Given the description of an element on the screen output the (x, y) to click on. 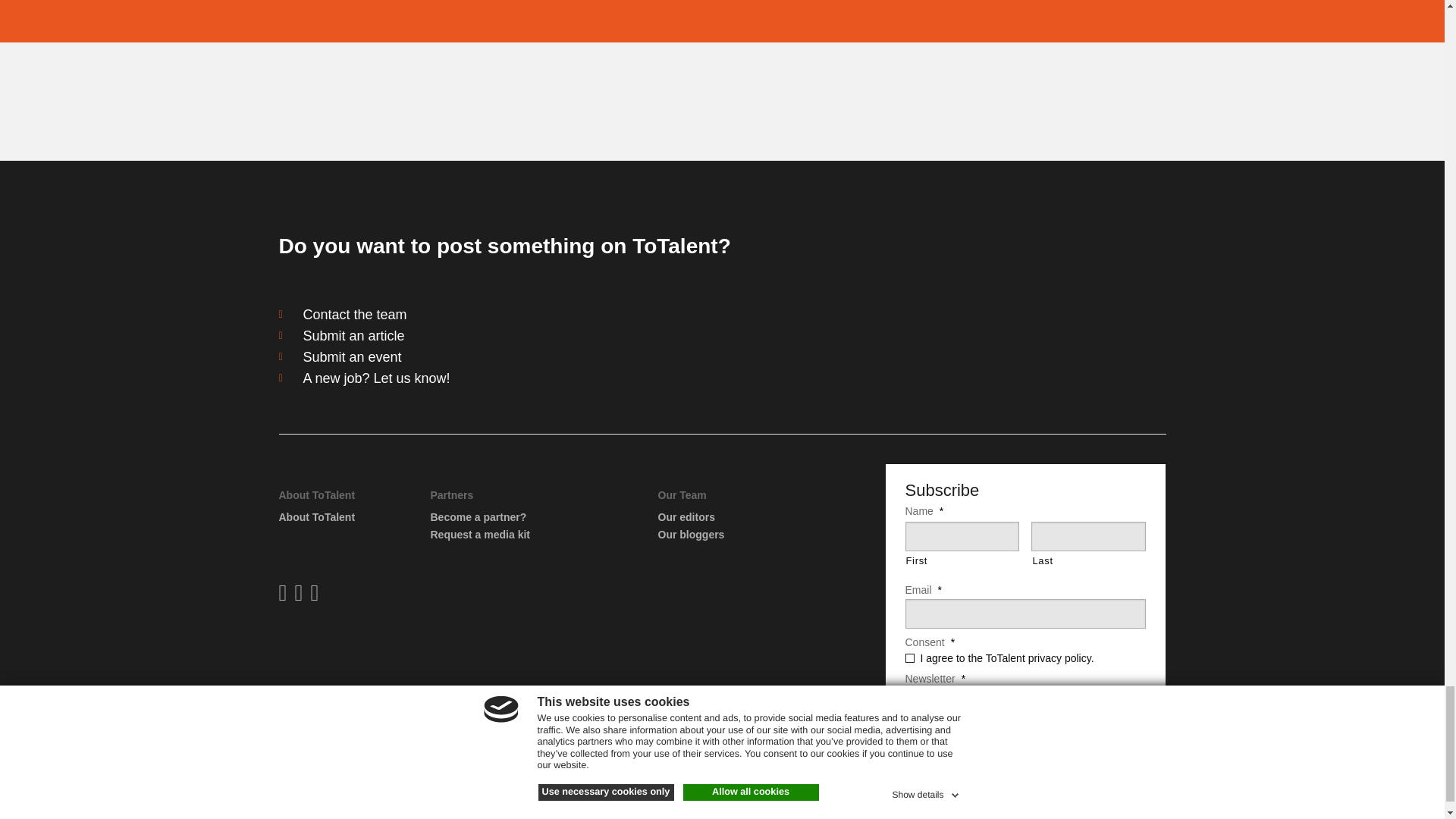
Subscribe (950, 753)
